Given the description of an element on the screen output the (x, y) to click on. 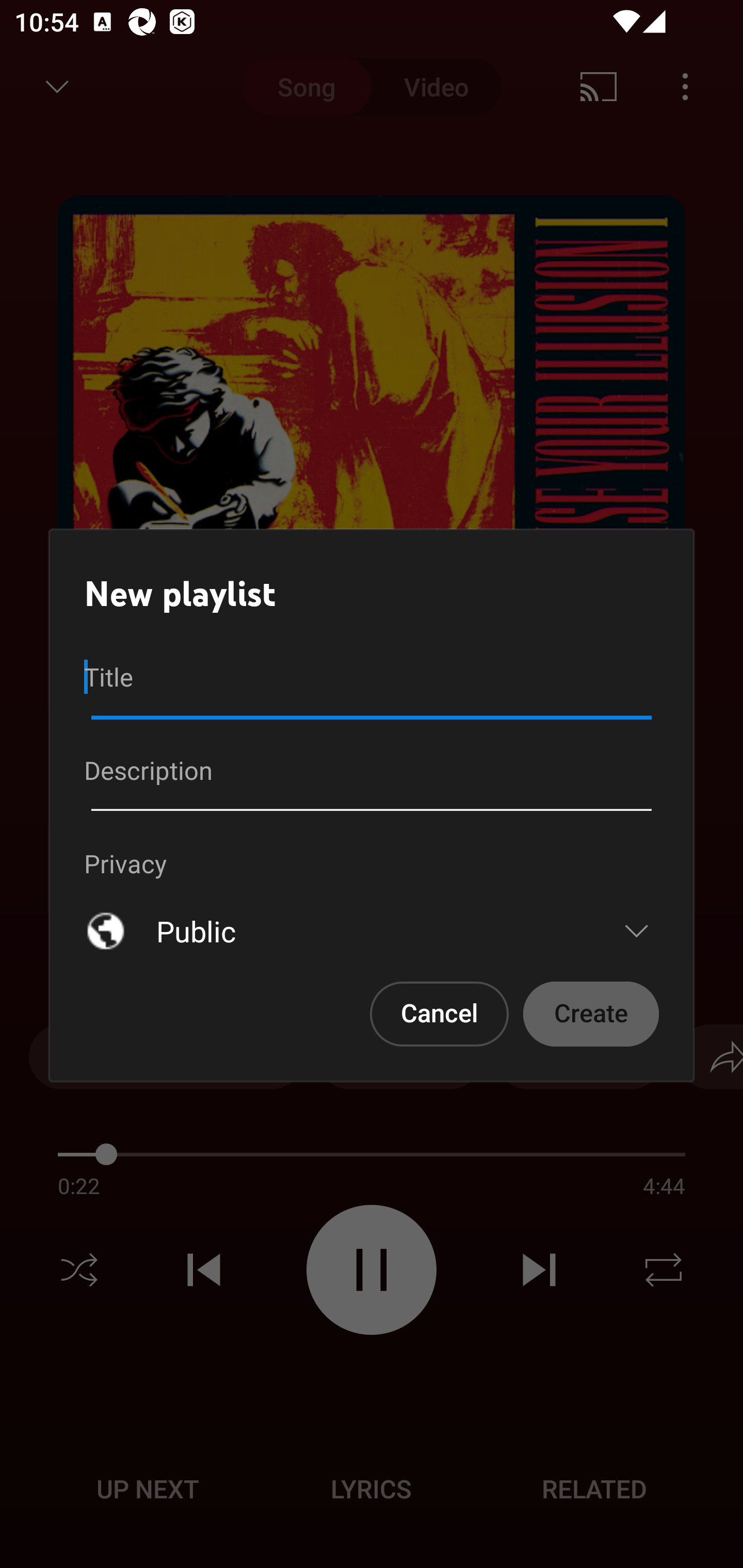
Title (371, 684)
Description (371, 777)
Cancel (439, 1013)
